Given the description of an element on the screen output the (x, y) to click on. 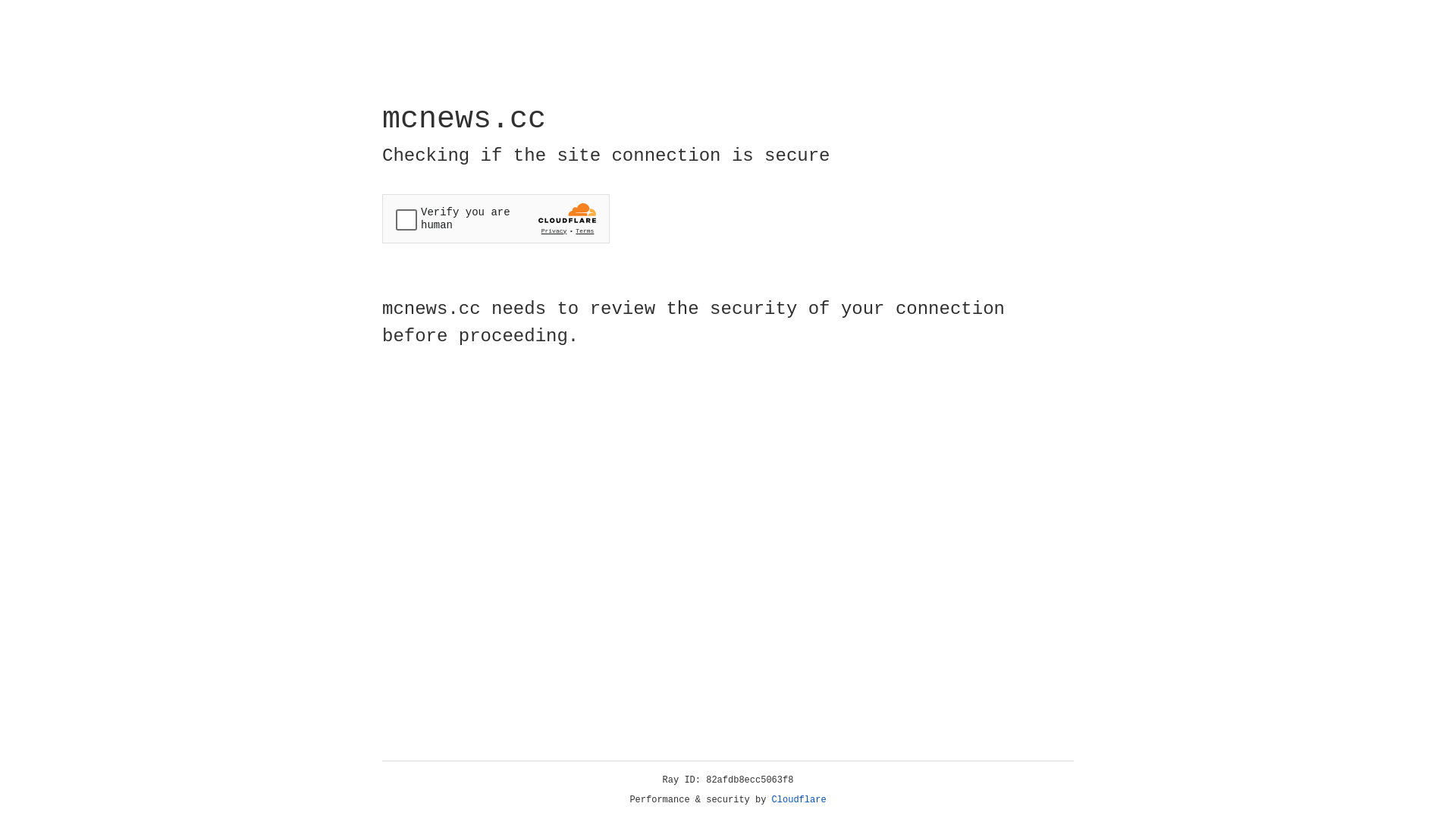
Cloudflare Element type: text (798, 799)
Widget containing a Cloudflare security challenge Element type: hover (495, 218)
